Given the description of an element on the screen output the (x, y) to click on. 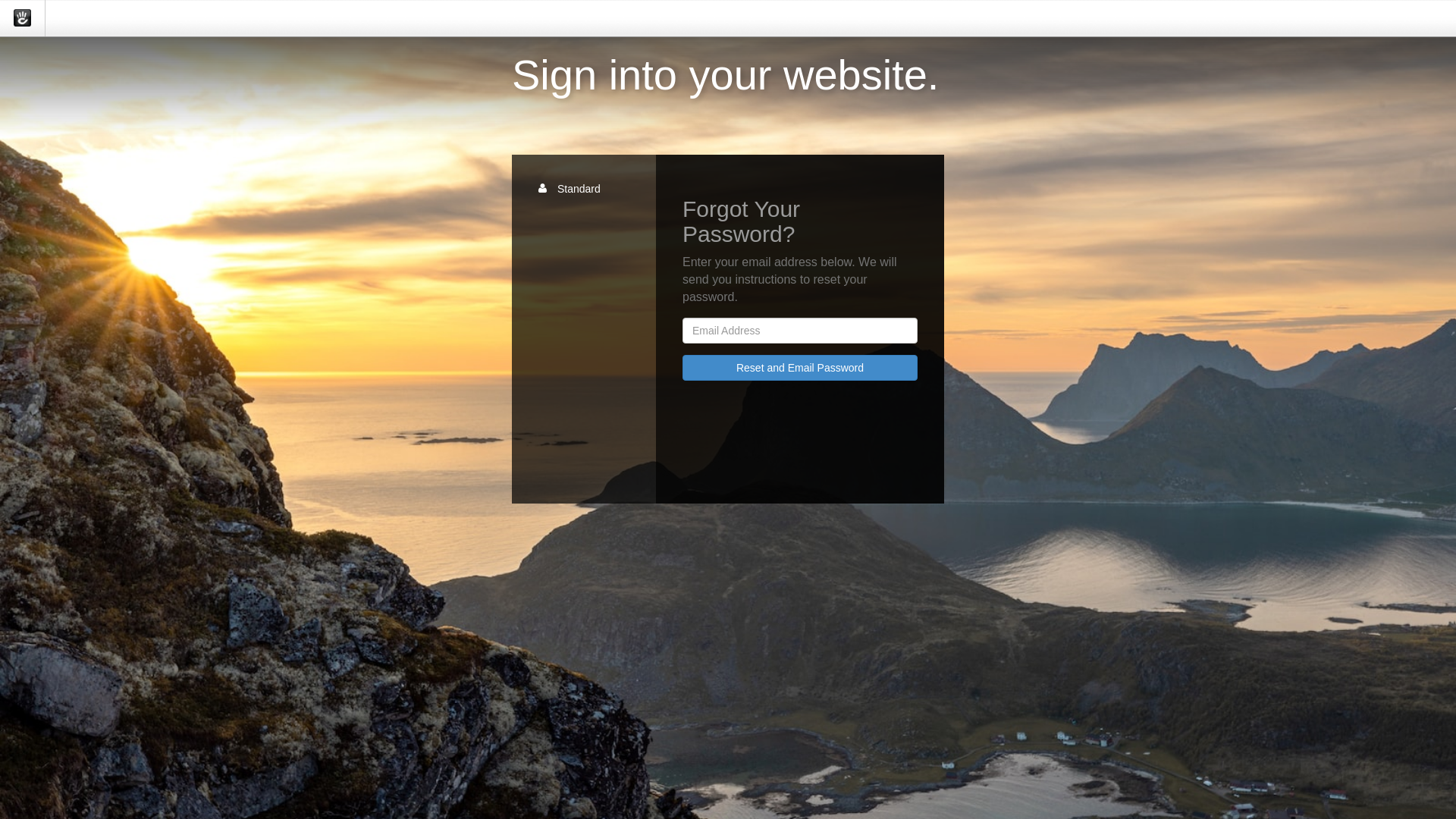
Reset and Email Password Element type: text (799, 367)
concrete5 Element type: hover (22, 17)
